Given the description of an element on the screen output the (x, y) to click on. 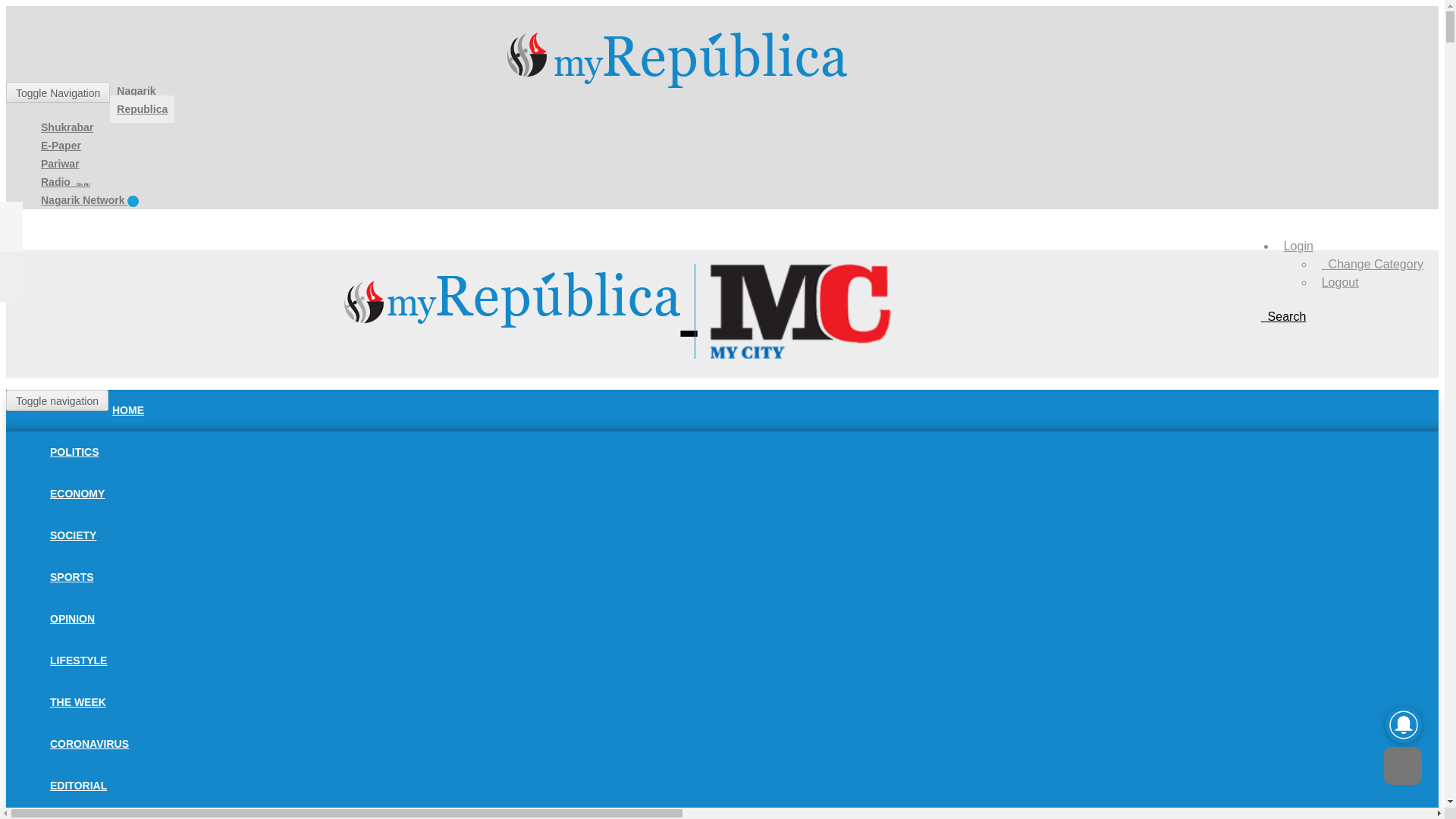
Republica (142, 108)
LIFESTYLE (78, 660)
THE WEEK (78, 702)
ECONOMY (76, 493)
Logout (1340, 282)
Nagarik (135, 90)
Login (1298, 245)
SPORTS (71, 576)
OPINION (72, 618)
HOME (127, 410)
  Search (1283, 316)
Shukrabar (66, 126)
  Change Category (1372, 264)
Query Your News (1283, 316)
Toggle Navigation (57, 92)
